Given the description of an element on the screen output the (x, y) to click on. 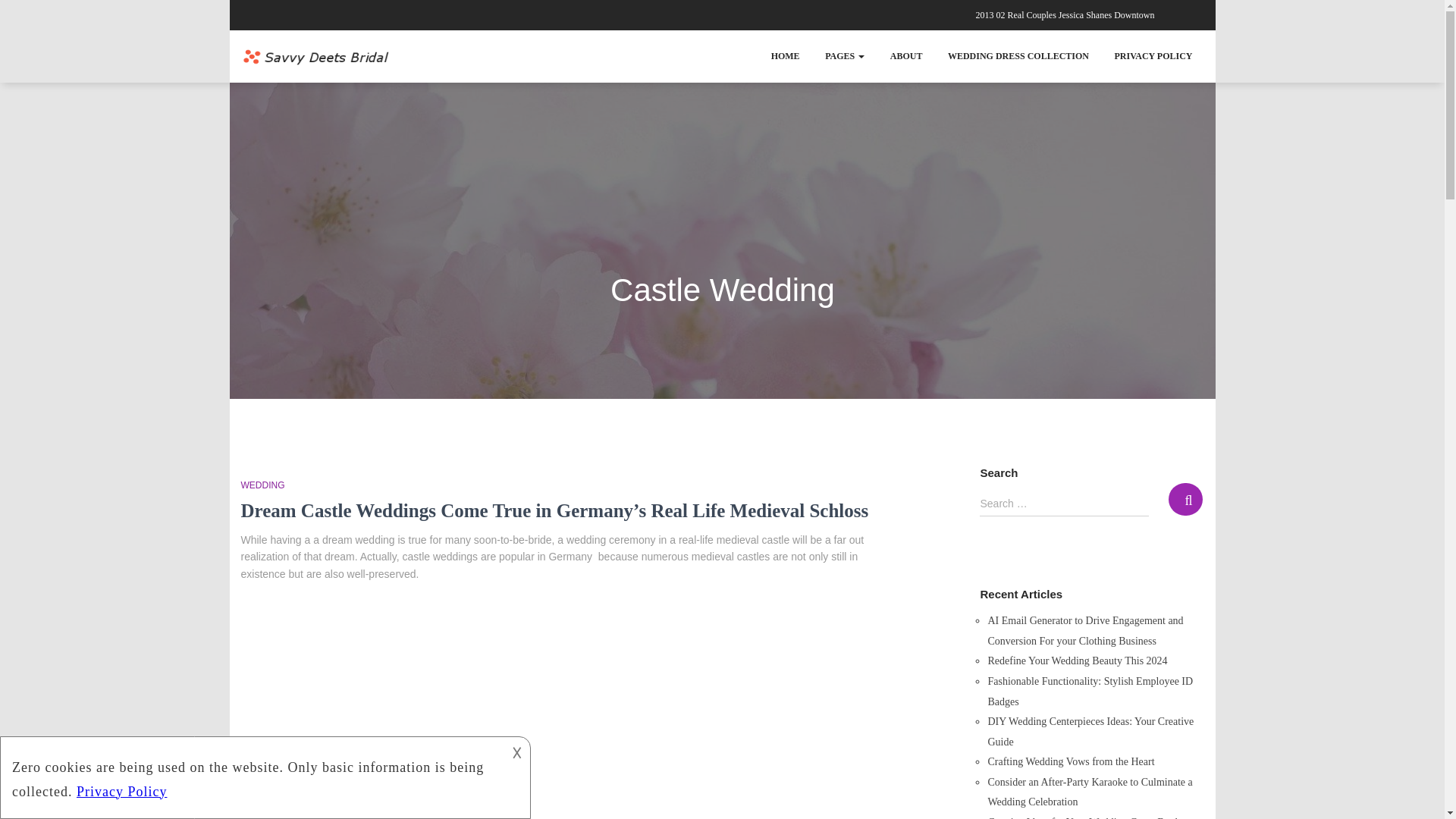
Creative Ideas for Your Wedding Guest Book (1083, 817)
Redefine Your Wedding Beauty This 2024 (1077, 660)
HOME (785, 56)
2013 02 Real Couples Jessica Shanes Downtown (1064, 15)
Pages (844, 56)
Search (1185, 499)
WEDDING (263, 484)
Fashionable Functionality: Stylish Employee ID Badges (1089, 691)
